Given the description of an element on the screen output the (x, y) to click on. 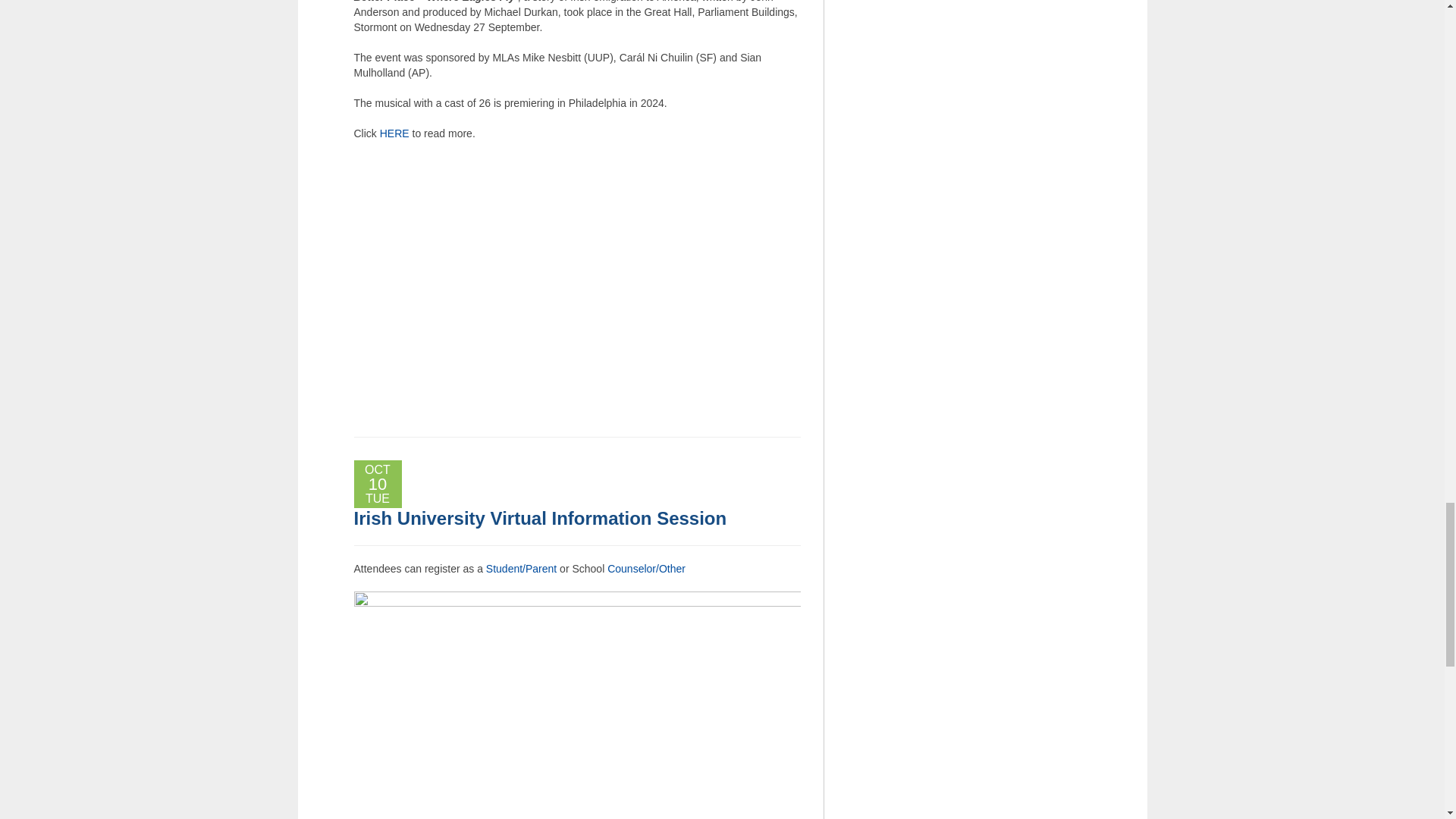
YouTube video player (565, 275)
